Given the description of an element on the screen output the (x, y) to click on. 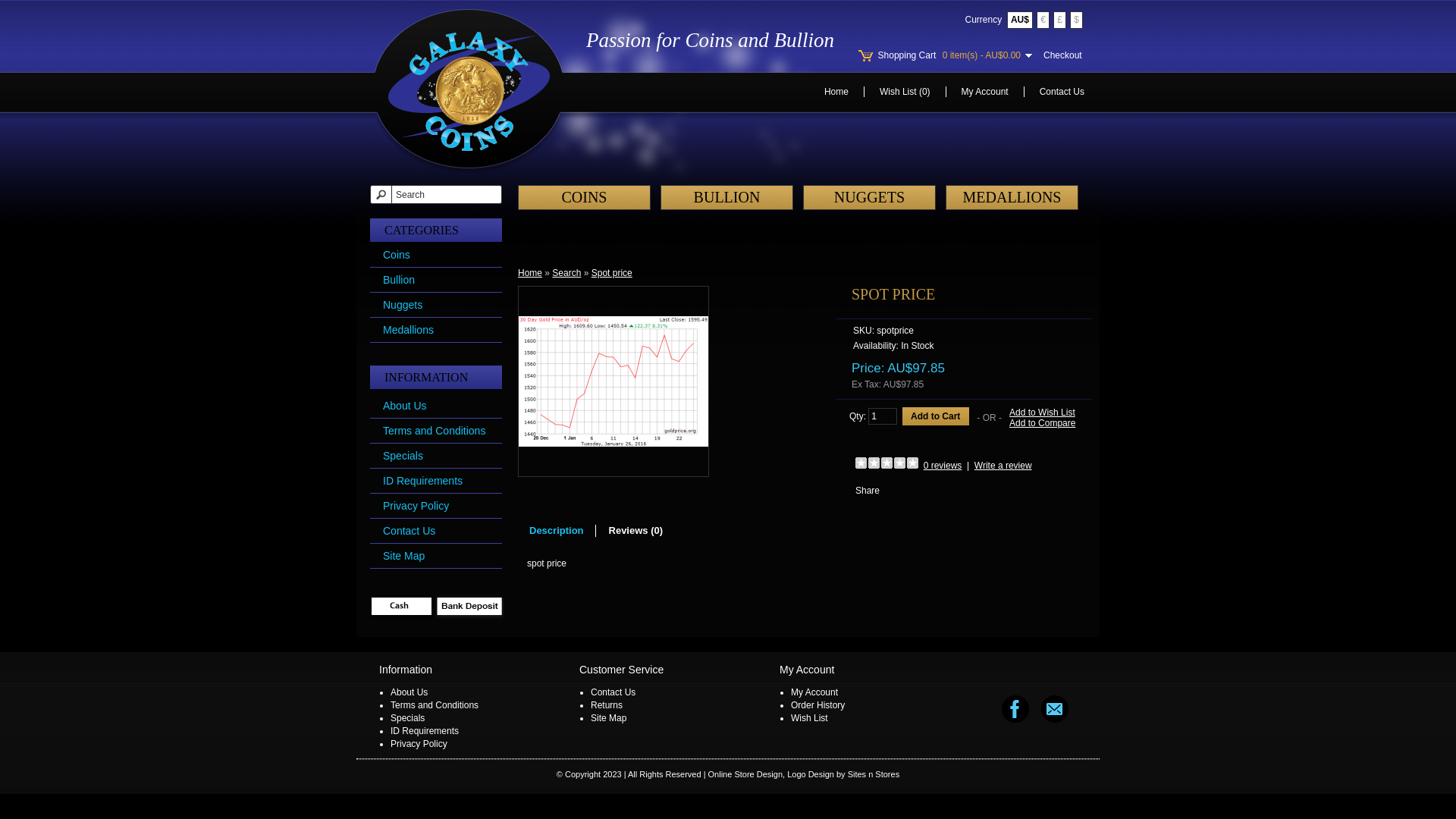
Specials Element type: text (407, 717)
Site Map Element type: text (608, 717)
0 item(s) - AU$0.00 Element type: text (987, 55)
Add to Cart Element type: text (935, 416)
Spot price Element type: text (611, 272)
My Account Element type: text (813, 692)
Order History Element type: text (817, 704)
0 reviews Element type: text (942, 465)
Terms and Conditions Element type: text (433, 430)
Online Store Design Element type: text (745, 773)
Bullion Element type: text (398, 279)
AU$ Element type: text (1019, 19)
Logo Design Element type: text (810, 773)
Description Element type: text (556, 530)
Terms and Conditions Element type: text (434, 704)
ID Requirements Element type: text (424, 730)
Home Element type: text (836, 91)
Home Element type: text (529, 272)
ID Requirements Element type: text (422, 480)
Nuggets Element type: text (402, 304)
Wish List (0) Element type: text (904, 91)
Reviews (0) Element type: text (635, 530)
$ Element type: text (1076, 19)
My Account Element type: text (984, 91)
Write a review Element type: text (1003, 465)
Contact Us Element type: text (612, 692)
Returns Element type: text (606, 704)
Share Element type: text (867, 490)
Privacy Policy Element type: text (415, 505)
Wish List Element type: text (809, 717)
Specials Element type: text (402, 455)
Spot price Element type: hover (613, 381)
Add to Compare Element type: text (1042, 422)
Contact Us Element type: text (1061, 91)
Medallions Element type: text (407, 329)
Sites n Stores Element type: text (873, 773)
About Us Element type: text (408, 692)
Checkout Element type: text (1062, 55)
About Us Element type: text (404, 405)
Site Map Element type: text (403, 555)
Contact Us Element type: text (408, 530)
Galaxy Coins Element type: hover (468, 90)
Add to Wish List Element type: text (1042, 412)
Privacy Policy Element type: text (418, 743)
Search Element type: text (566, 272)
Coins Element type: text (396, 254)
